Given the description of an element on the screen output the (x, y) to click on. 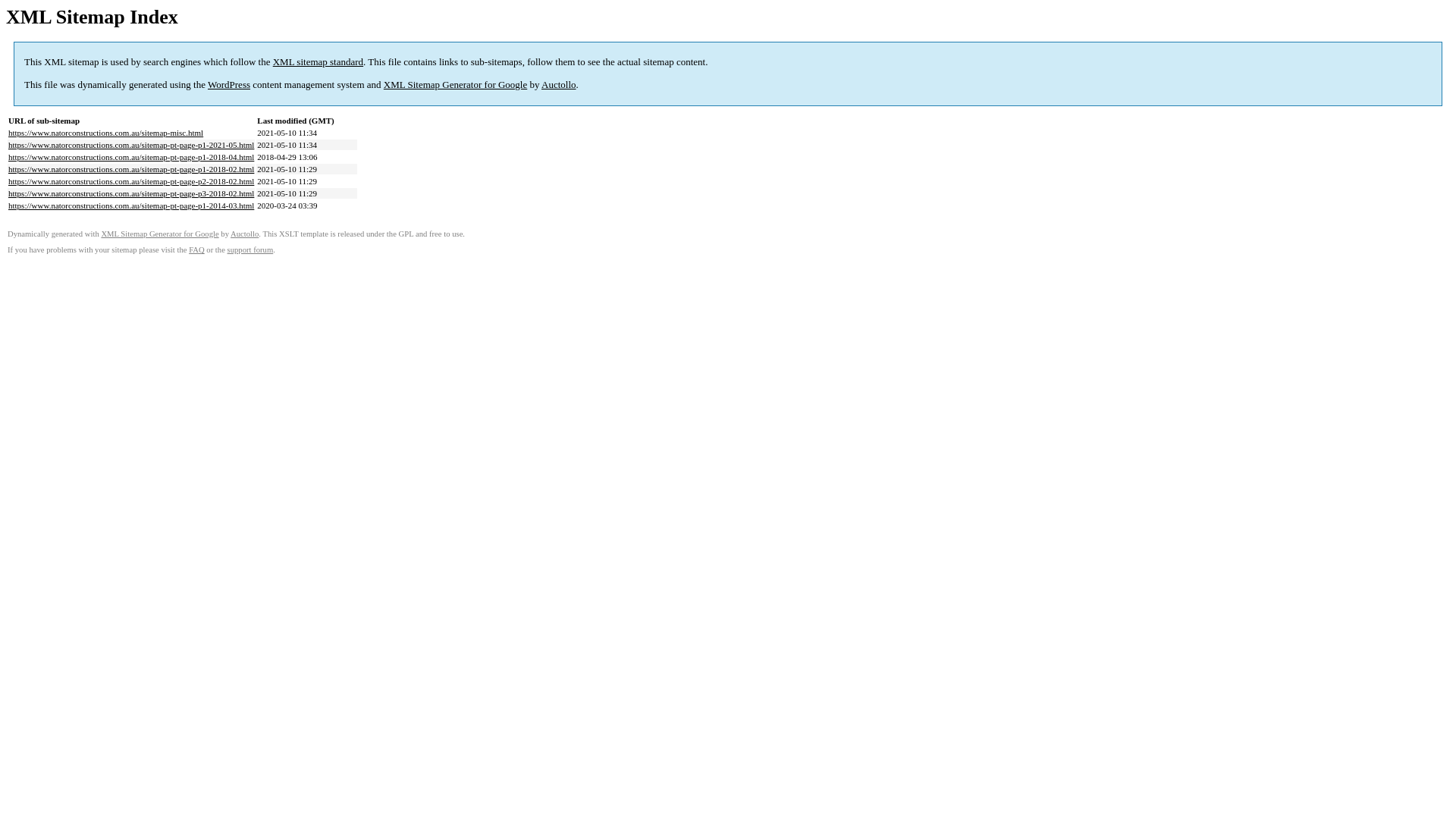
support forum Element type: text (250, 249)
Auctollo Element type: text (558, 84)
XML Sitemap Generator for Google Element type: text (455, 84)
XML Sitemap Generator for Google Element type: text (159, 233)
https://www.natorconstructions.com.au/sitemap-misc.html Element type: text (105, 132)
Auctollo Element type: text (244, 233)
WordPress Element type: text (228, 84)
FAQ Element type: text (196, 249)
XML sitemap standard Element type: text (318, 61)
